Given the description of an element on the screen output the (x, y) to click on. 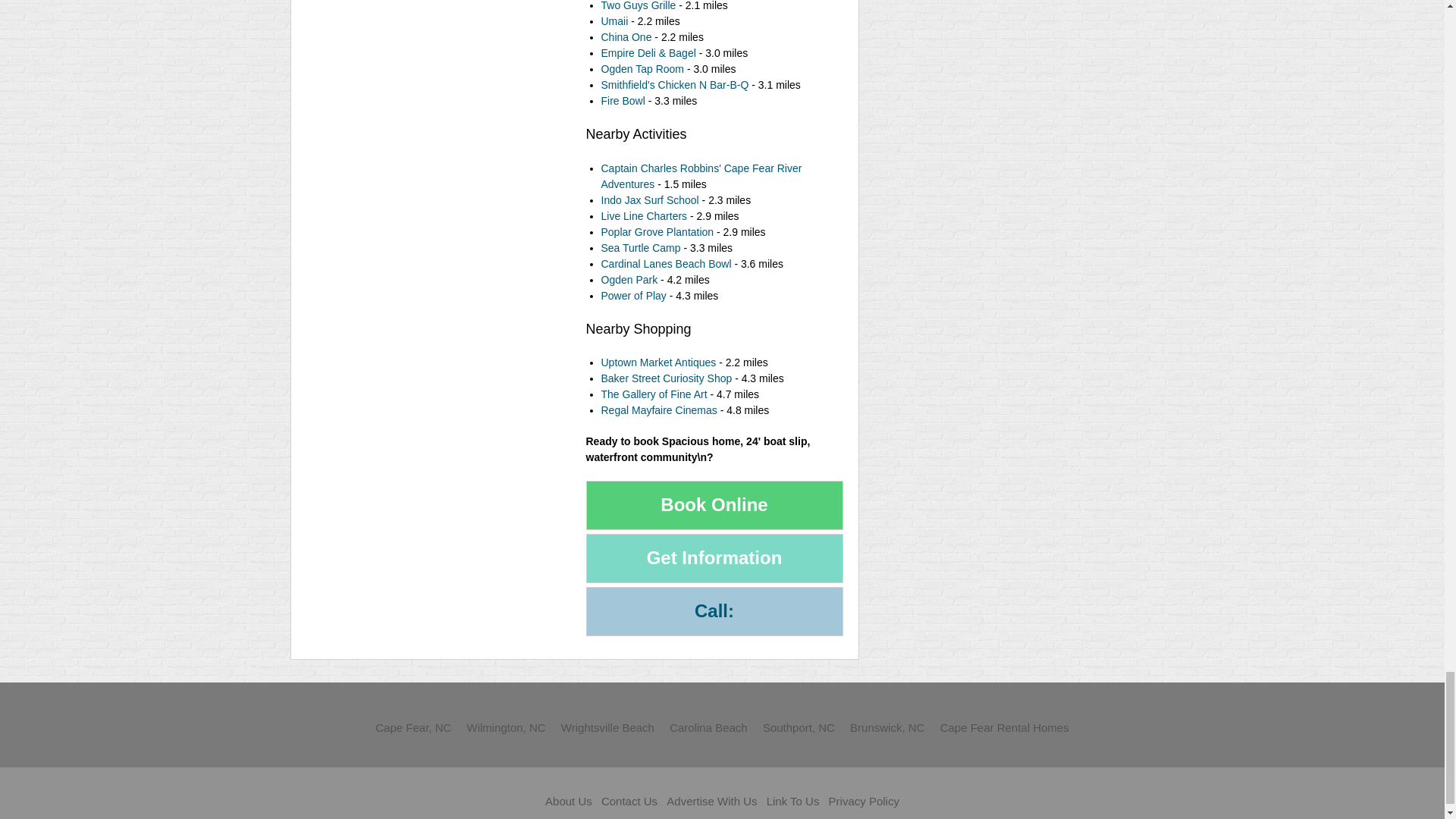
Ogden Tap Room (642, 69)
Fire Bowl (622, 101)
Umaii (613, 21)
Smithfield's Chicken N Bar-B-Q (675, 84)
Captain Charles Robbins' Cape Fear River Adventures (700, 176)
Two Guys Grille (637, 5)
Indo Jax Surf School (648, 200)
China One (624, 37)
